Given the description of an element on the screen output the (x, y) to click on. 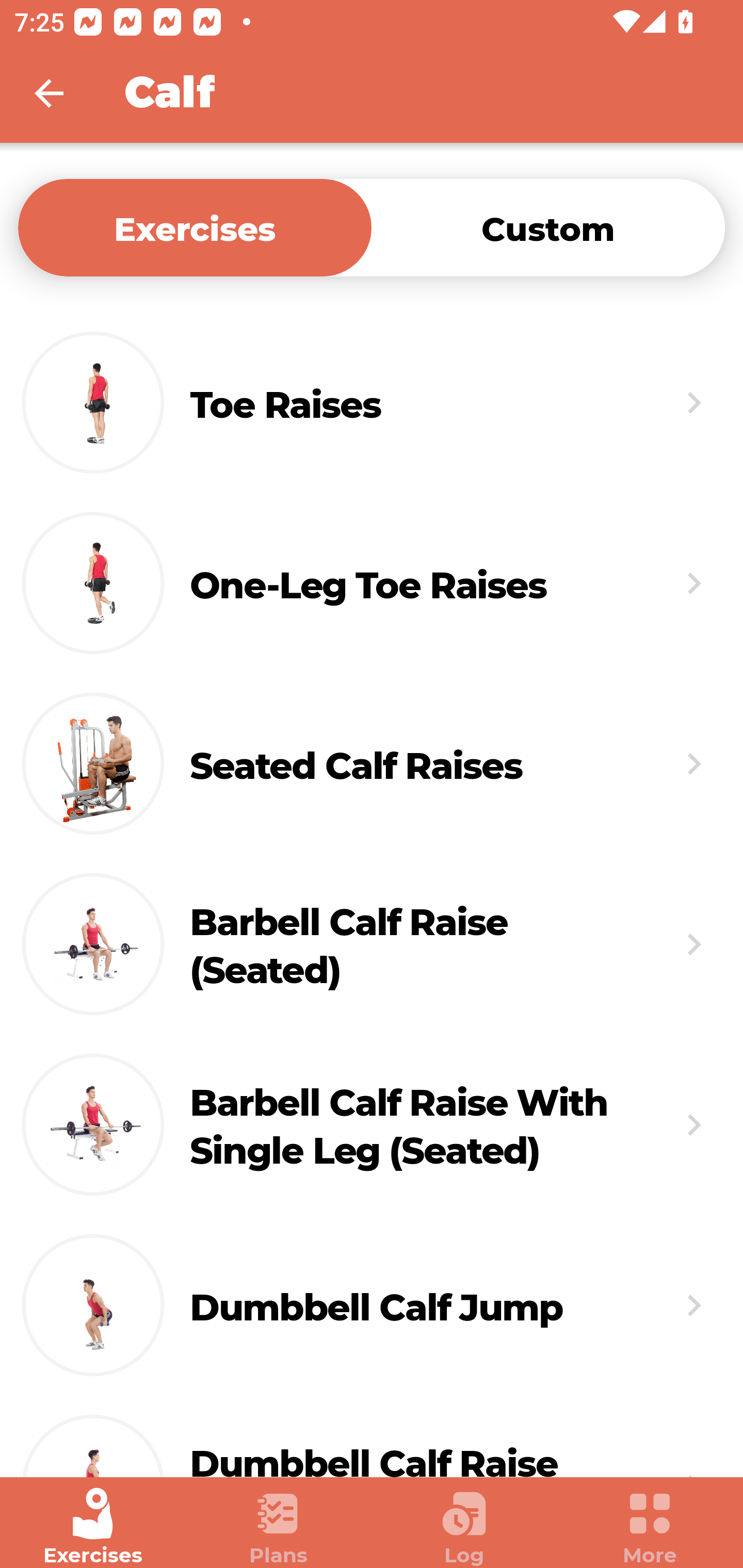
Back (62, 92)
Exercises (194, 226)
Custom (548, 226)
Exercises (92, 1527)
Plans (278, 1527)
Log (464, 1527)
More (650, 1527)
